Given the description of an element on the screen output the (x, y) to click on. 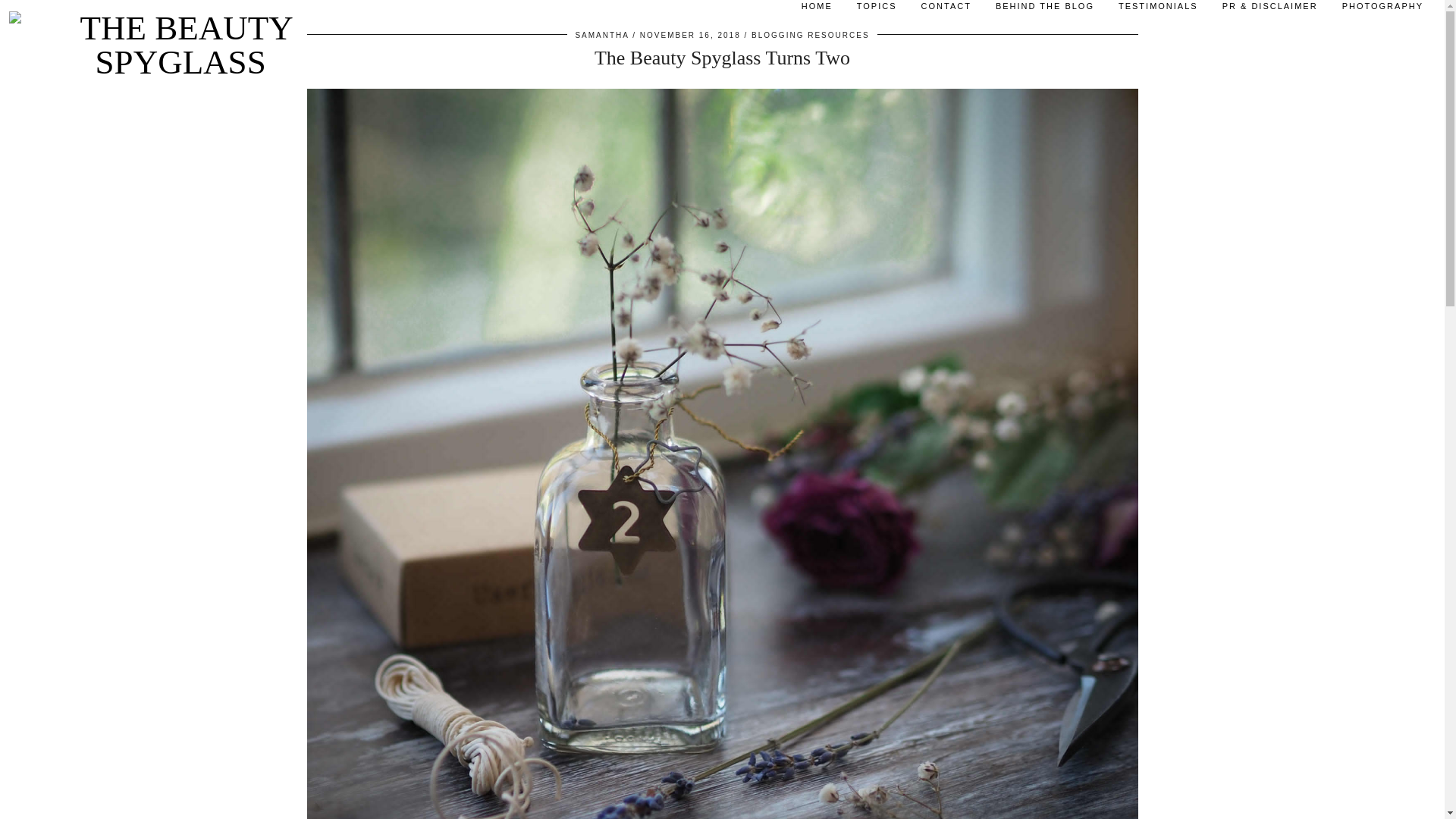
TOPICS (876, 10)
The Beauty Spyglass (180, 45)
BEHIND THE BLOG (1045, 10)
HOME (816, 10)
CONTACT (946, 10)
TESTIMONIALS (1157, 10)
Posts by Samantha (601, 35)
